Given the description of an element on the screen output the (x, y) to click on. 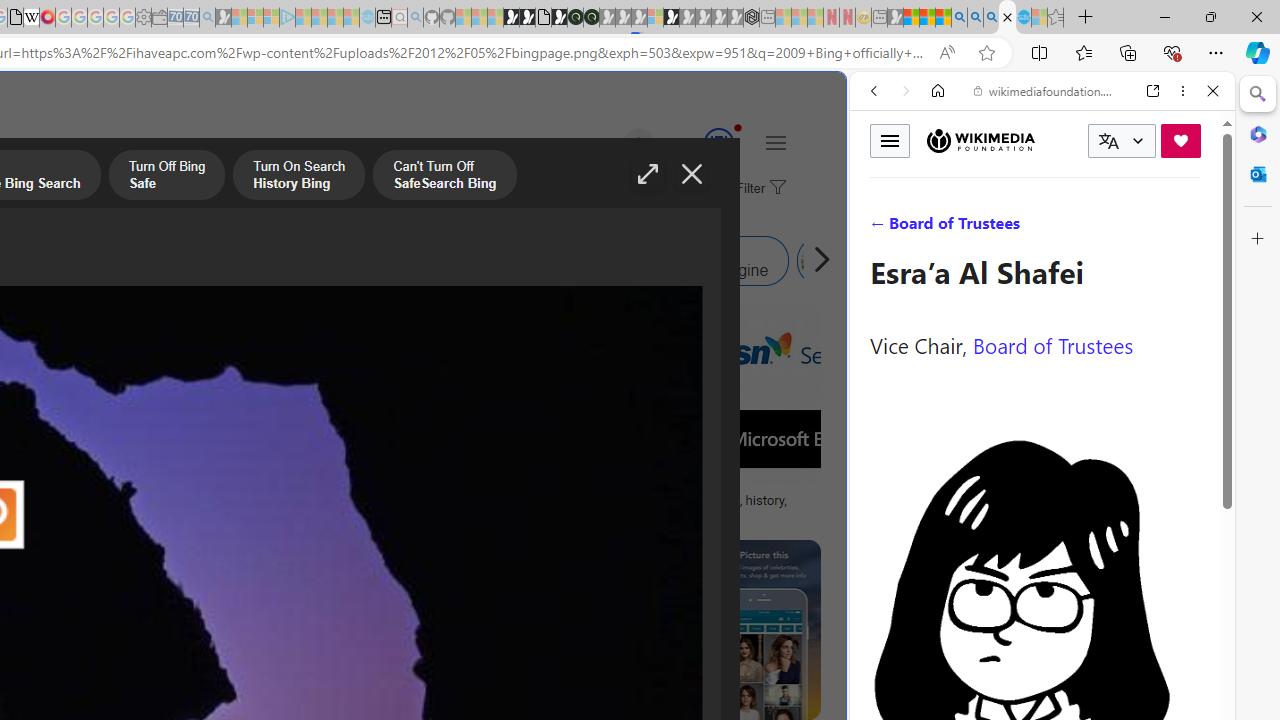
MSN Homepage Bing Search Engine (151, 260)
Open link in new tab (1153, 91)
Animation (737, 127)
Bing Logo, symbol, meaning, history, PNG, brandSave (694, 417)
Https Bing Search Q MSN (822, 260)
Technology History timeline | Timetoast timelinesSave (189, 417)
Turn Off Bing Safe (166, 177)
Close split screen (844, 102)
